Given the description of an element on the screen output the (x, y) to click on. 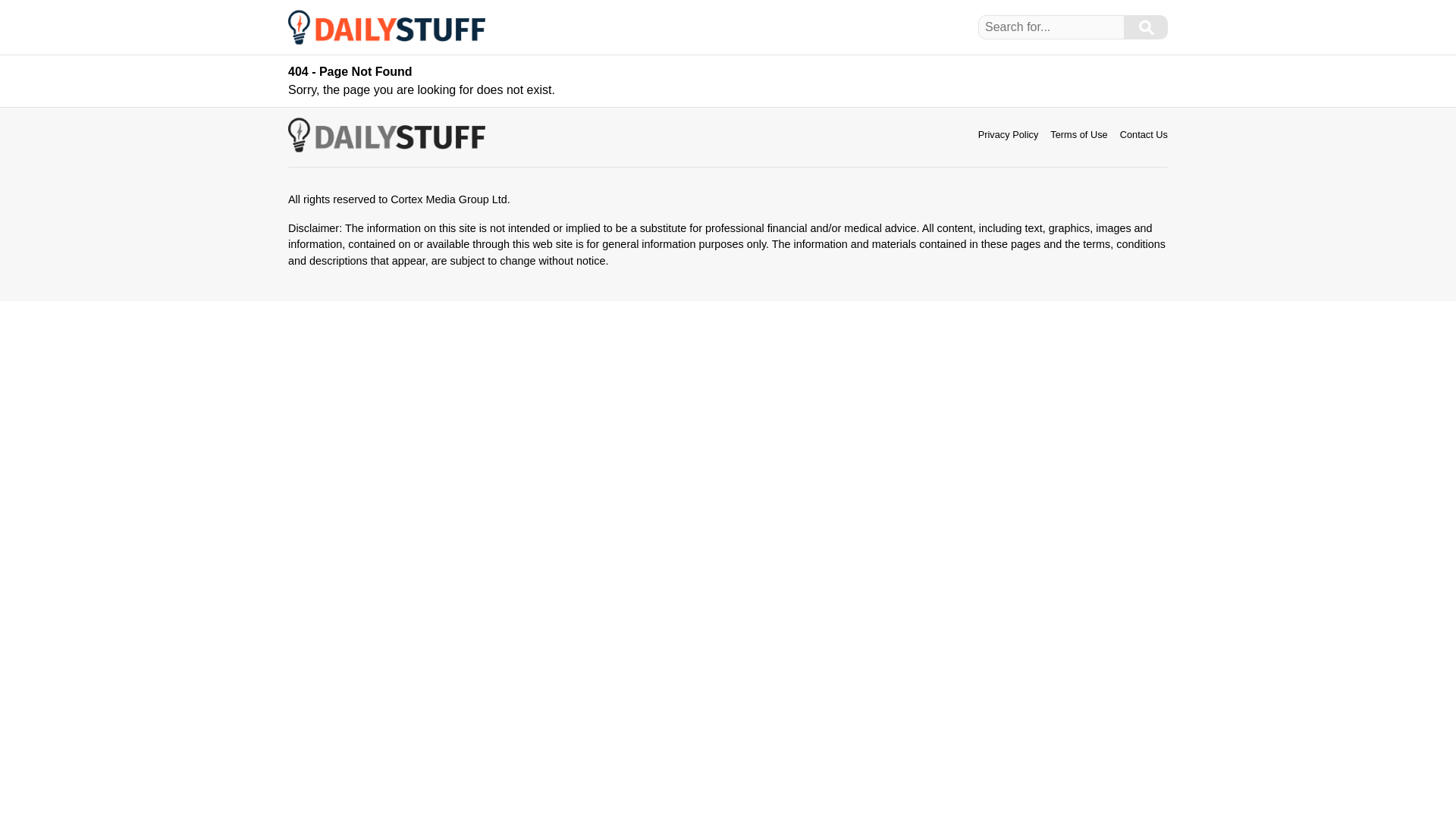
Privacy Policy (1008, 134)
Terms of Use (1077, 134)
Contact Us (1143, 134)
